Given the description of an element on the screen output the (x, y) to click on. 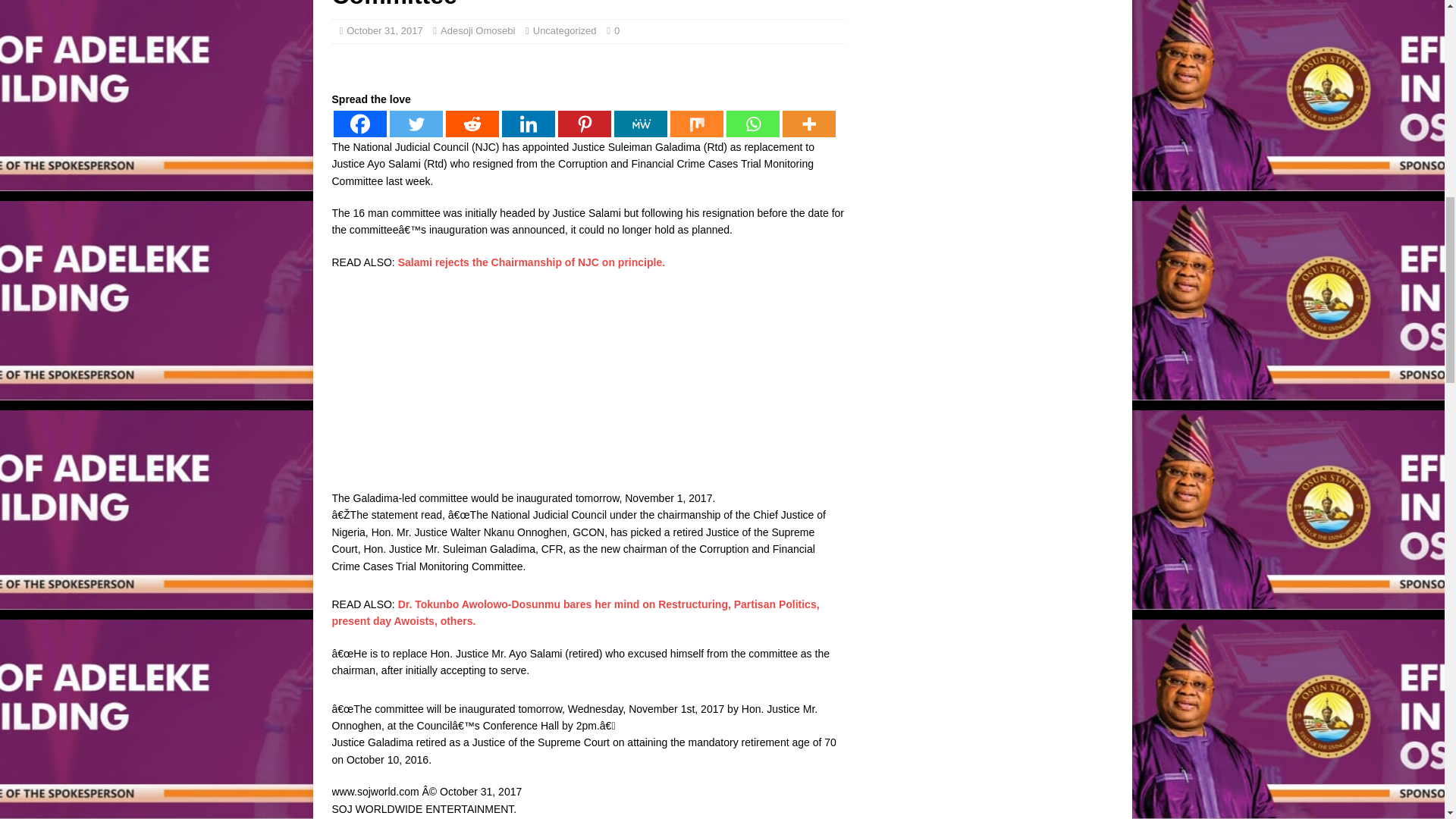
Whatsapp (752, 123)
Adesoji Omosebi (478, 30)
Facebook (360, 123)
Mix (696, 123)
Salami rejects the Chairmanship of NJC on principle. (531, 262)
More (809, 123)
Linkedin (528, 123)
Reddit (472, 123)
October 31, 2017 (384, 30)
Pinterest (584, 123)
Uncategorized (564, 30)
Twitter (416, 123)
MeWe (640, 123)
